Given the description of an element on the screen output the (x, y) to click on. 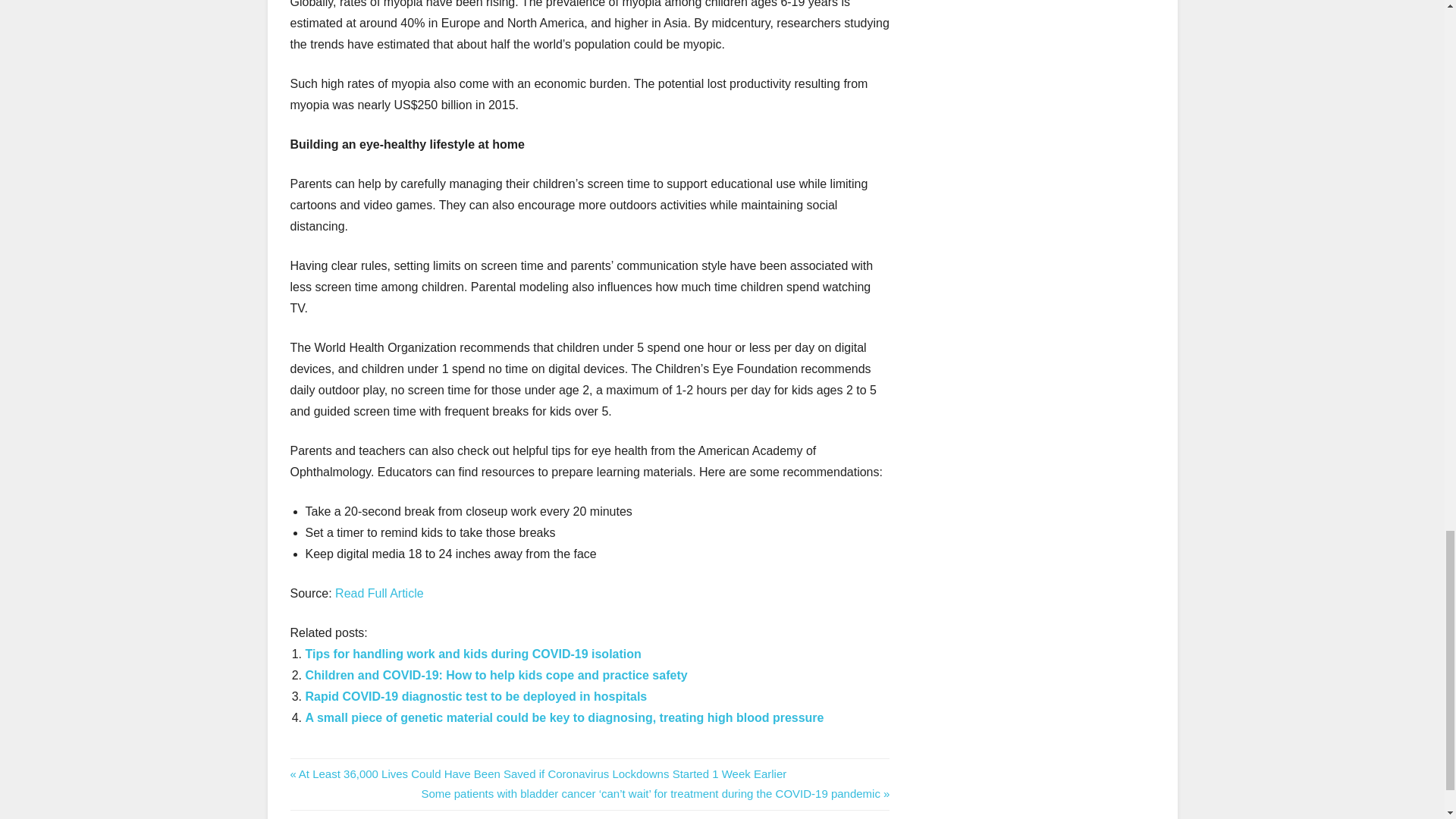
Rapid COVID-19 diagnostic test to be deployed in hospitals (475, 696)
Tips for handling work and kids during COVID-19 isolation (472, 653)
Tips for handling work and kids during COVID-19 isolation (472, 653)
Read Full Article (378, 593)
be (300, 767)
Rapid COVID-19 diagnostic test to be deployed in hospitals (475, 696)
